Given the description of an element on the screen output the (x, y) to click on. 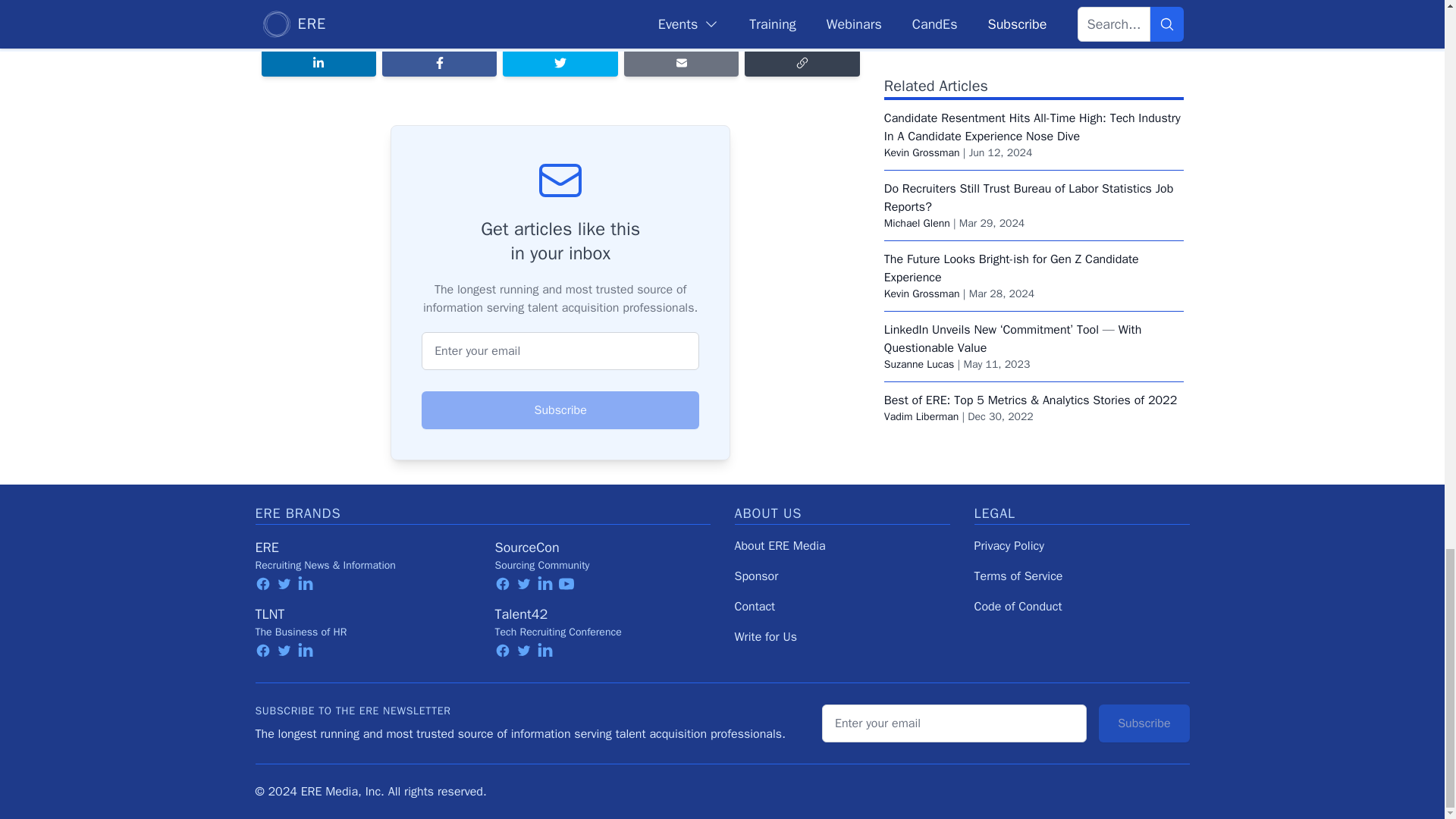
Some, however, predict (454, 1)
Michael Glenn (916, 74)
Kevin Grossman (921, 5)
Subscribe (560, 410)
